Given the description of an element on the screen output the (x, y) to click on. 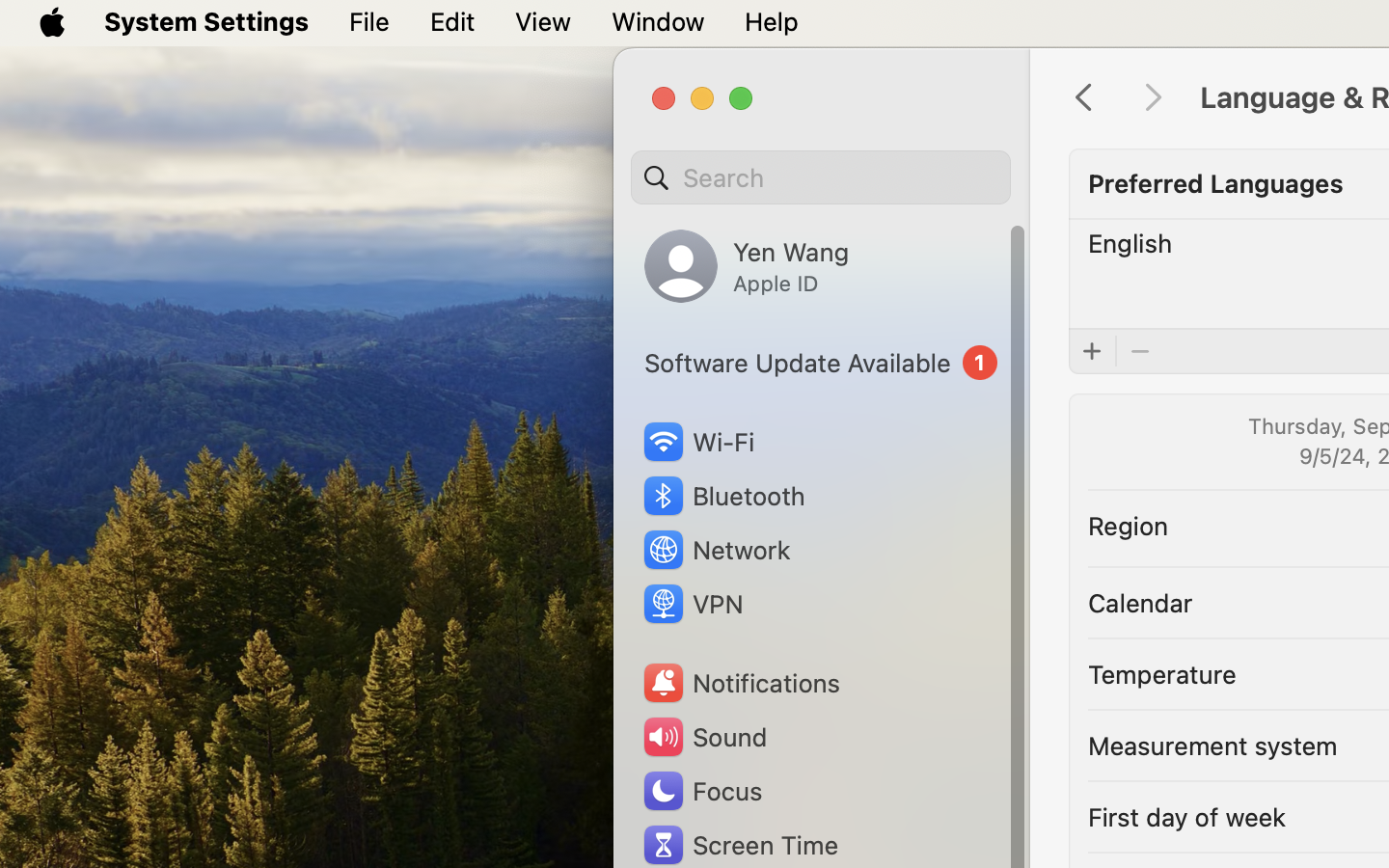
Notifications Element type: AXStaticText (740, 682)
1 Element type: AXStaticText (820, 362)
Calendar Element type: AXStaticText (1140, 601)
Network Element type: AXStaticText (715, 549)
First day of week Element type: AXStaticText (1187, 815)
